Given the description of an element on the screen output the (x, y) to click on. 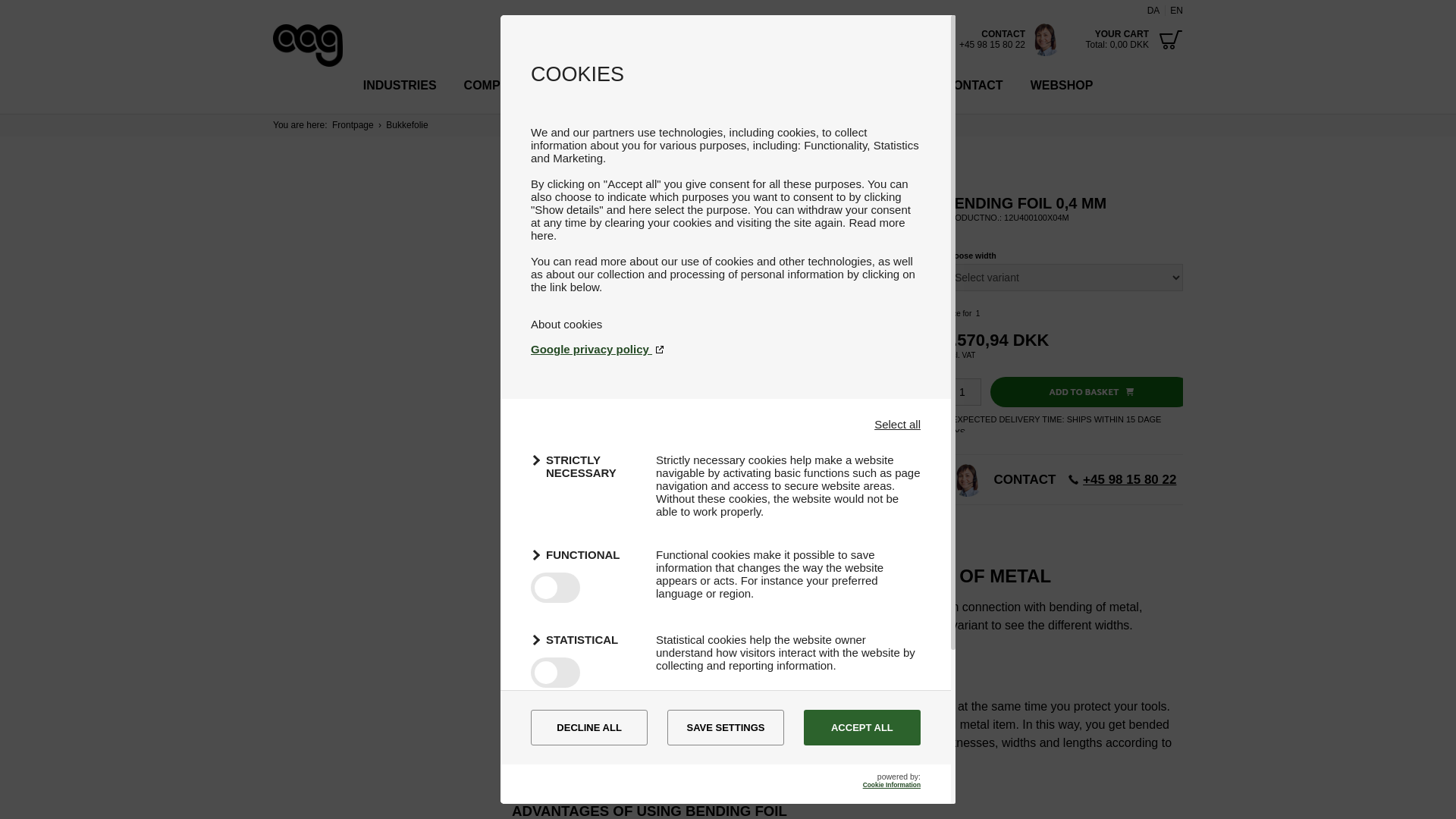
1 (962, 391)
FUNCTIONAL (584, 554)
MARKETING (584, 724)
Read more here (718, 228)
STRICTLY NECESSARY (584, 466)
Google privacy policy (725, 349)
STATISTICAL (584, 639)
Select all (897, 423)
About cookies (566, 323)
